Given the description of an element on the screen output the (x, y) to click on. 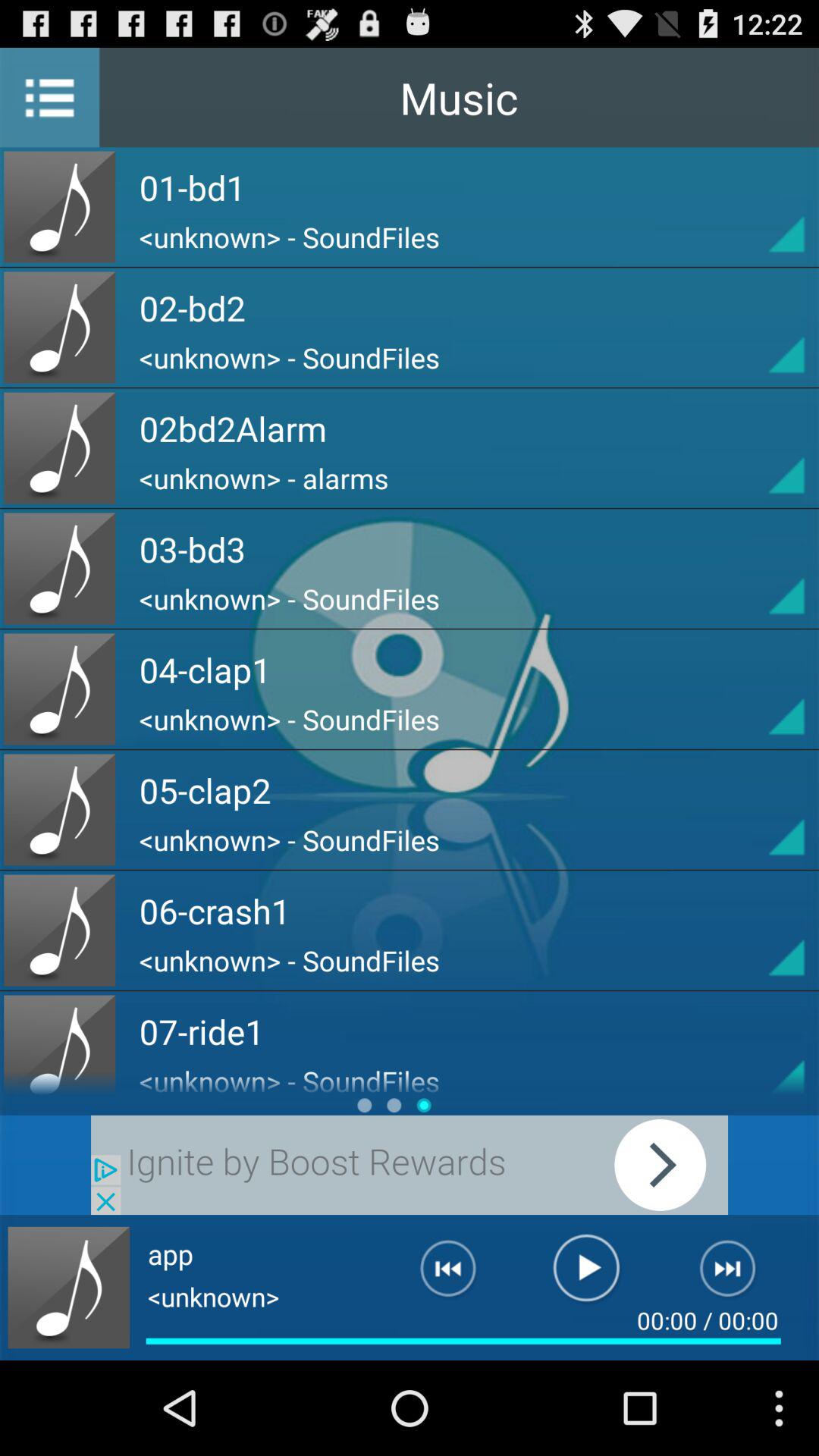
enter the website mentioned in the advertisement (409, 1164)
